Given the description of an element on the screen output the (x, y) to click on. 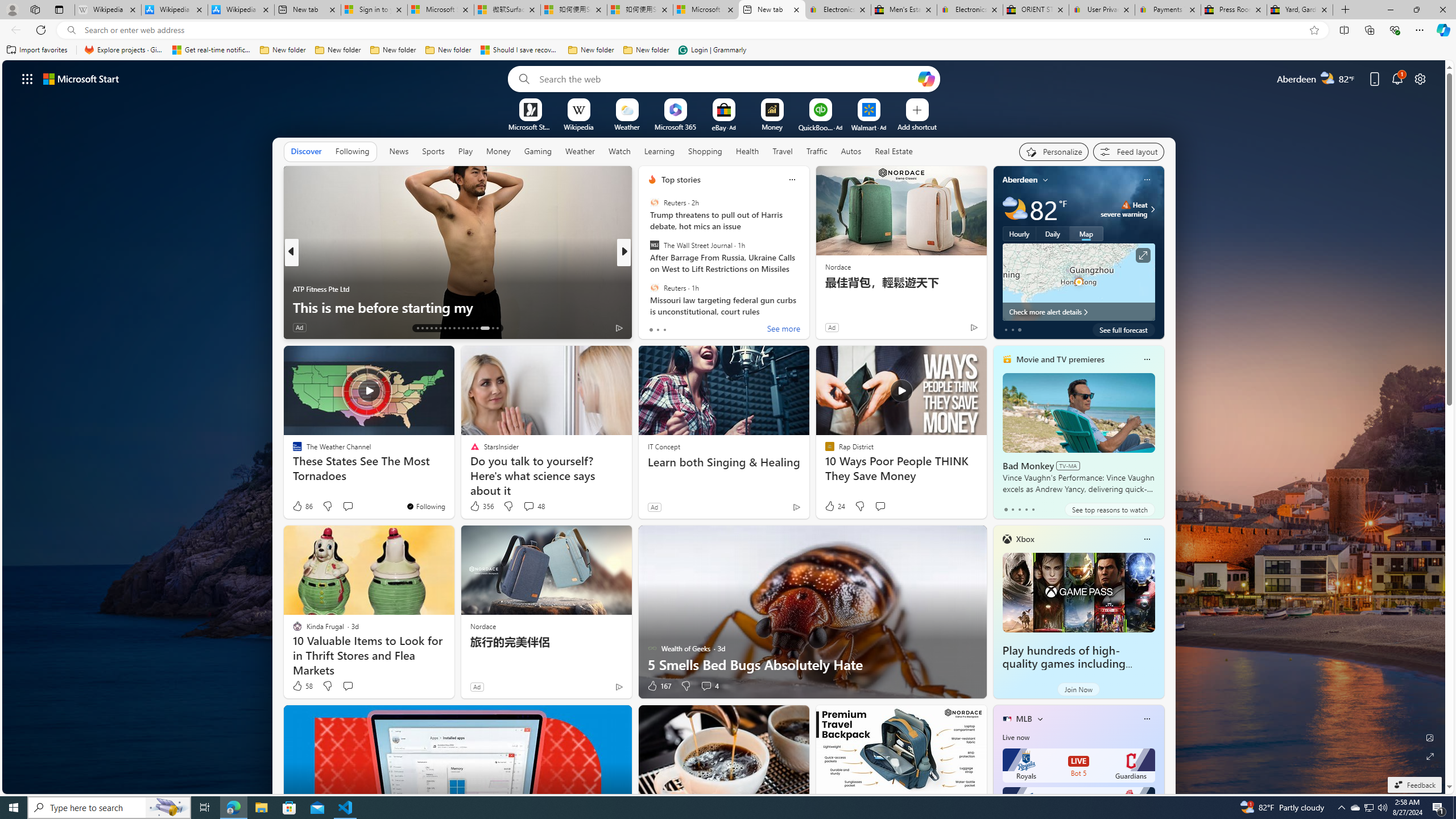
To get missing image descriptions, open the context menu. (529, 109)
More interests (1039, 718)
MUO (647, 288)
News (398, 151)
Heat - Severe (1126, 204)
Microsoft Services Agreement (441, 9)
You're following The Weather Channel (425, 505)
View comments 48 Comment (528, 505)
View comments 48 Comment (533, 505)
